Given the description of an element on the screen output the (x, y) to click on. 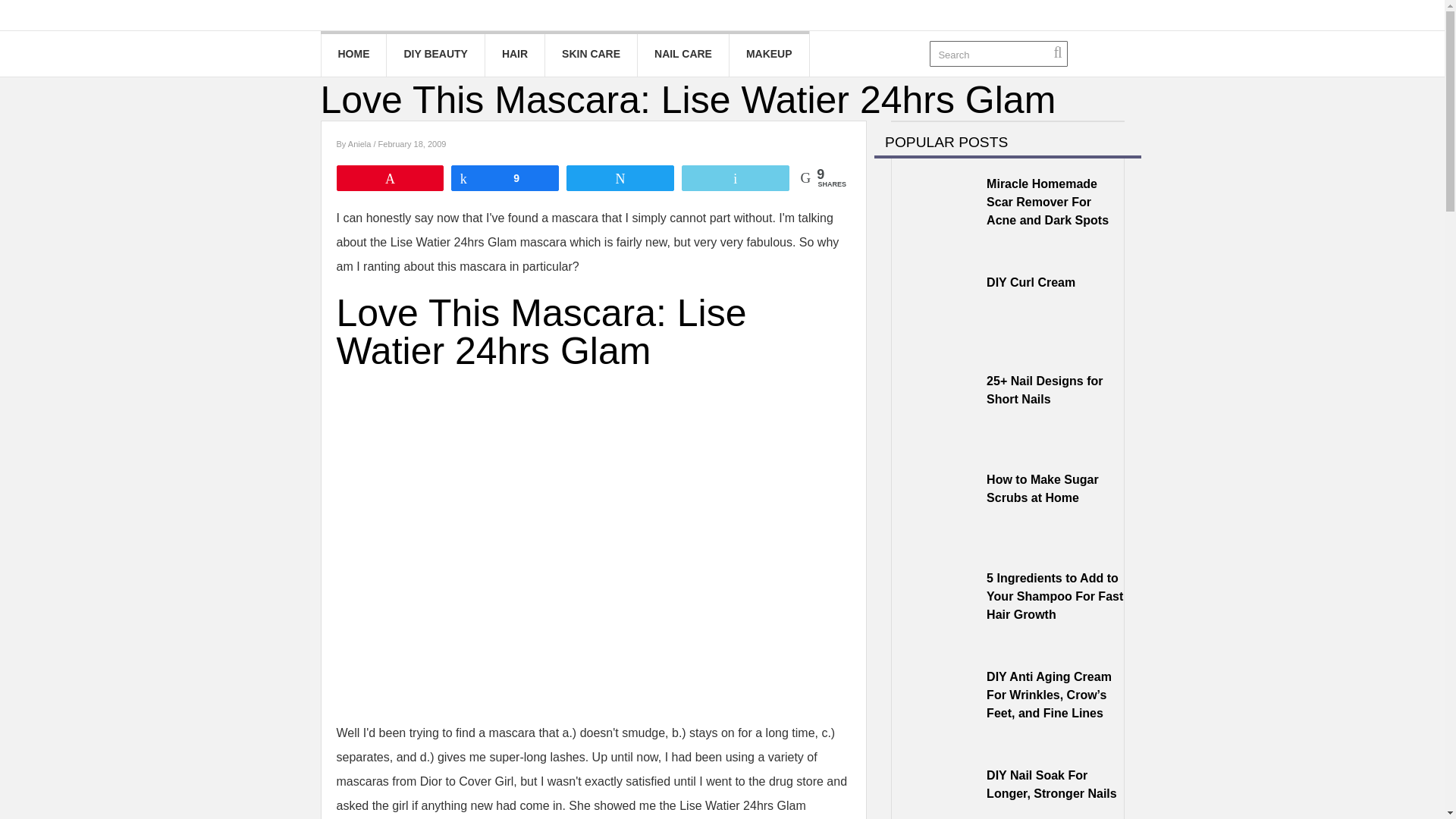
9 (504, 177)
DIY BEAUTY (435, 53)
NAIL CARE (683, 53)
HAIR (514, 53)
HOME (354, 53)
MAKEUP (769, 53)
Aniela (360, 143)
SKIN CARE (590, 53)
